Given the description of an element on the screen output the (x, y) to click on. 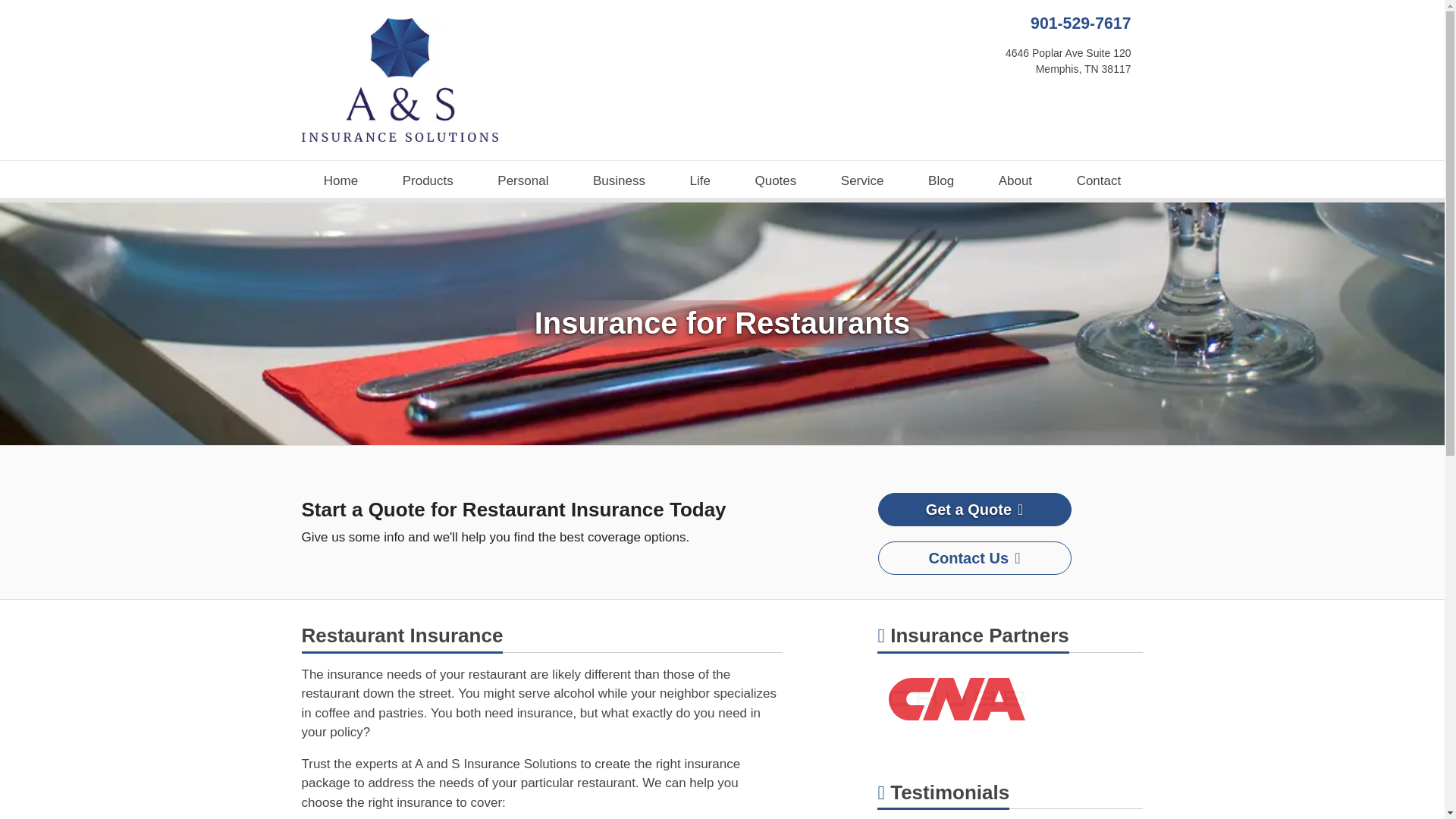
901-529-7617 (1079, 24)
Business (1067, 61)
Chubb (619, 181)
Contact Us (956, 699)
Products (974, 557)
Chubb (428, 181)
Quotes (956, 699)
Life (775, 181)
Get a Quote (699, 181)
Service (974, 509)
About (861, 181)
Blog (1014, 181)
Contact (940, 181)
Chubb (1098, 181)
